Given the description of an element on the screen output the (x, y) to click on. 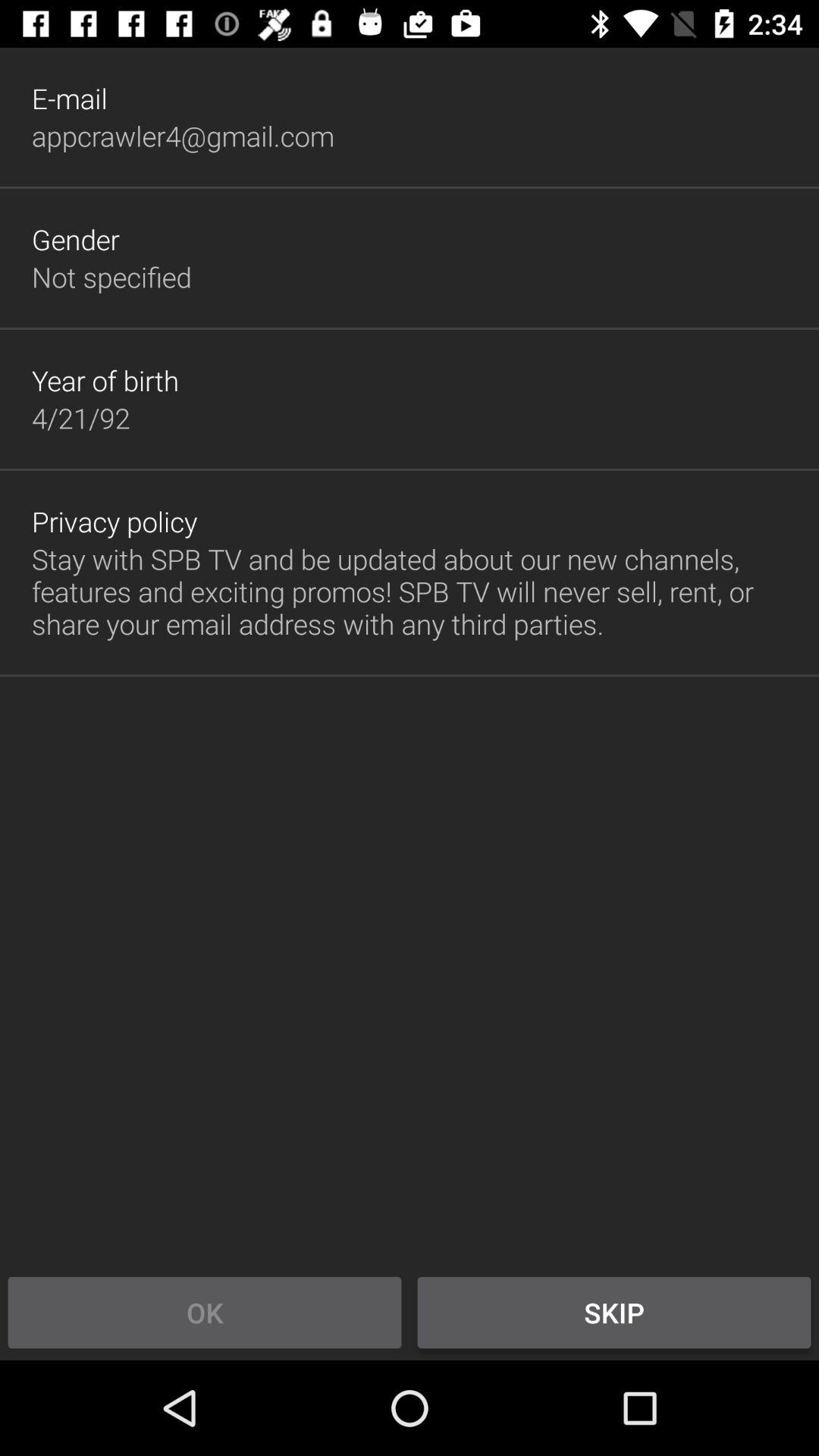
open app below gender icon (111, 276)
